Given the description of an element on the screen output the (x, y) to click on. 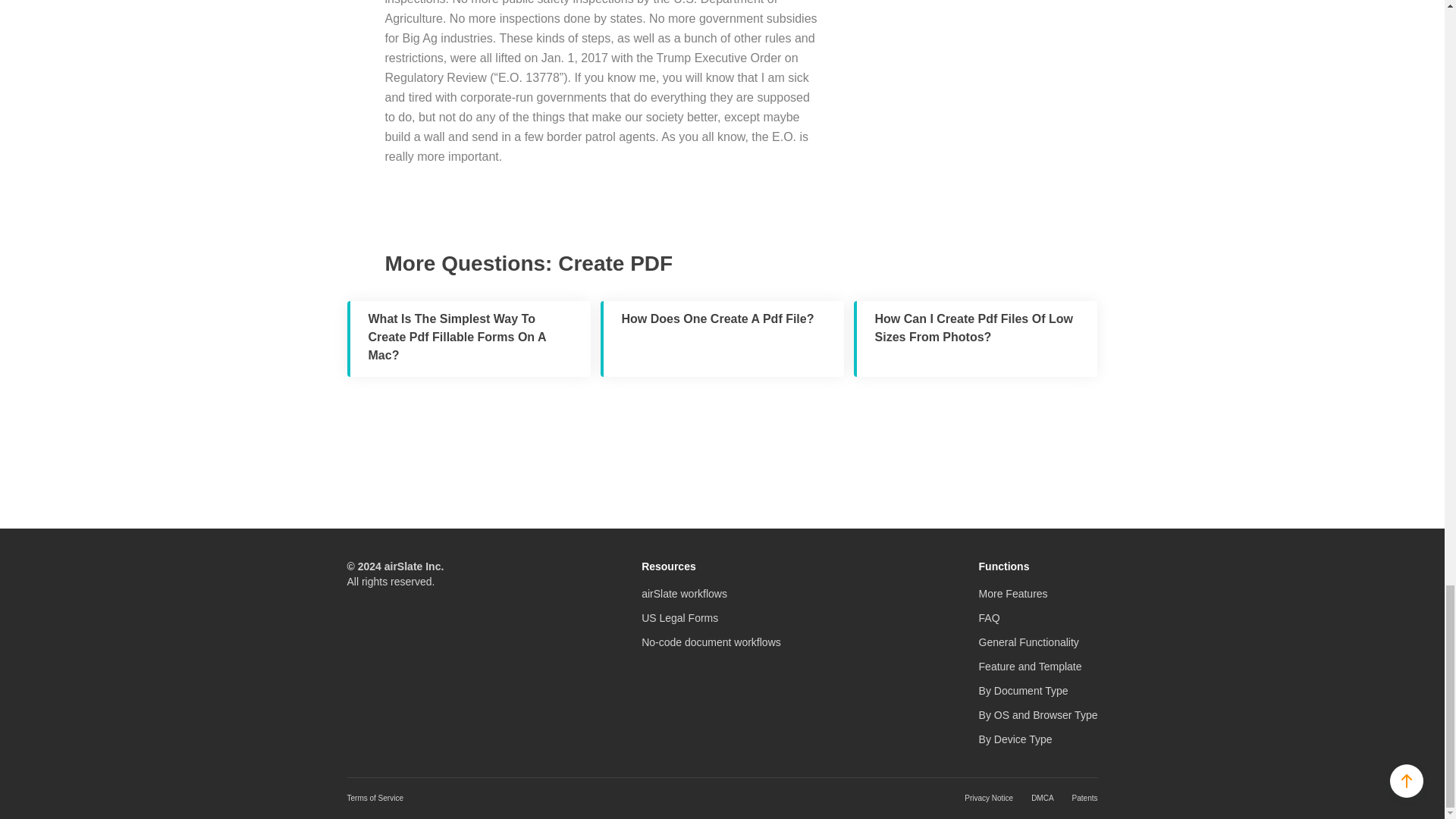
How Does One Create A Pdf File? (721, 338)
How Can I Create Pdf Files Of Low Sizes From Photos? (975, 338)
FAQ (989, 617)
US Legal Forms (679, 617)
Terms of Service (375, 797)
By OS and Browser Type (1037, 715)
airSlate workflows (684, 593)
Patents (1084, 798)
DMCA (1041, 798)
Feature and Template (1029, 666)
By Document Type (1023, 690)
No-code document workflows (711, 642)
General Functionality (1028, 642)
Privacy Notice (988, 798)
